Given the description of an element on the screen output the (x, y) to click on. 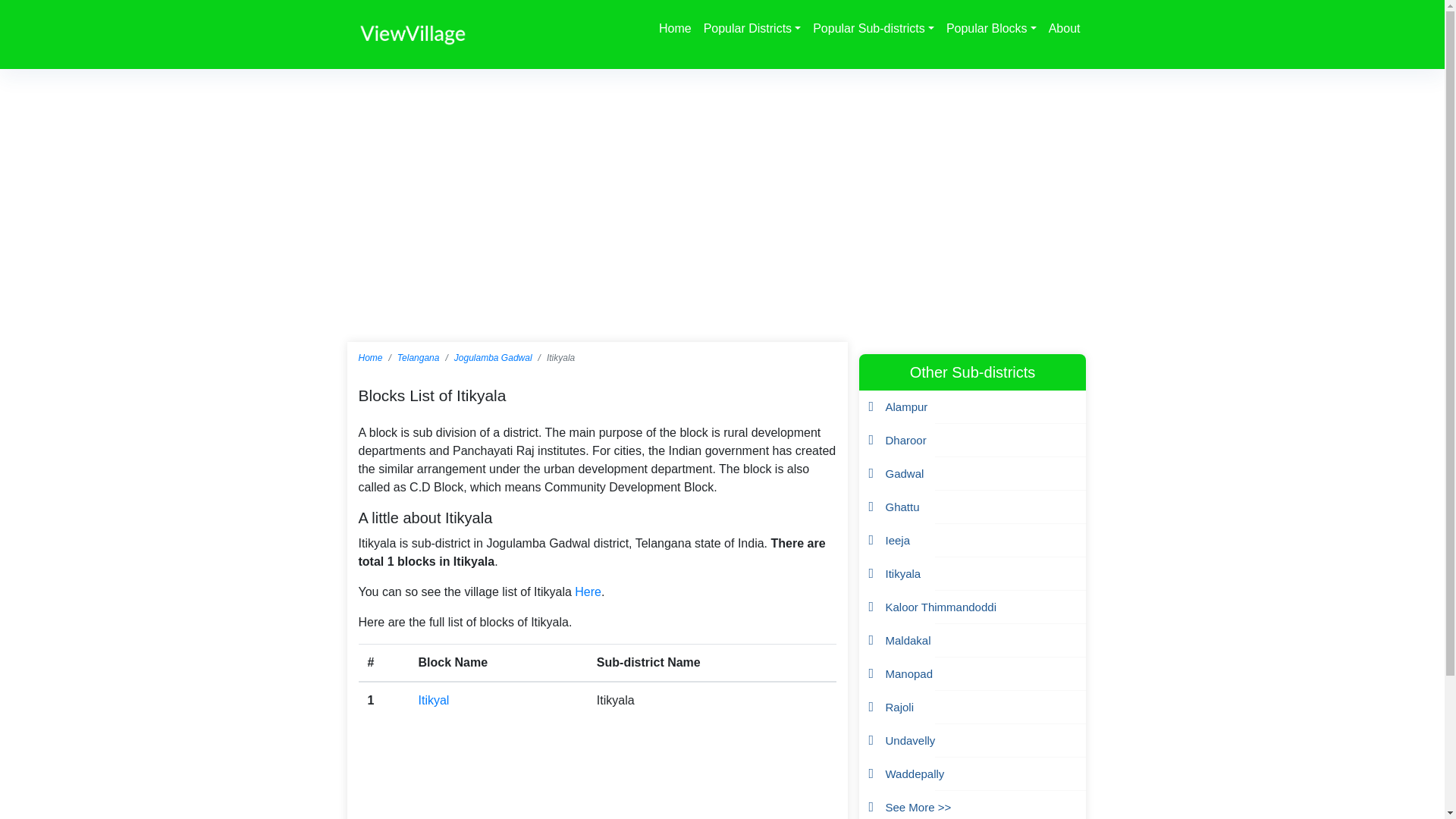
Popular Blocks (991, 28)
Maldakal (908, 640)
About (1064, 28)
Alampur (906, 406)
Dharoor (905, 440)
Kaloor Thimmandoddi (940, 606)
Popular Sub-districts (873, 28)
Popular Districts (752, 28)
Gadwal (904, 472)
Undavelly (910, 739)
Waddepally (914, 773)
Home (369, 357)
Itikyala (903, 573)
Home (674, 28)
Telangana (418, 357)
